Given the description of an element on the screen output the (x, y) to click on. 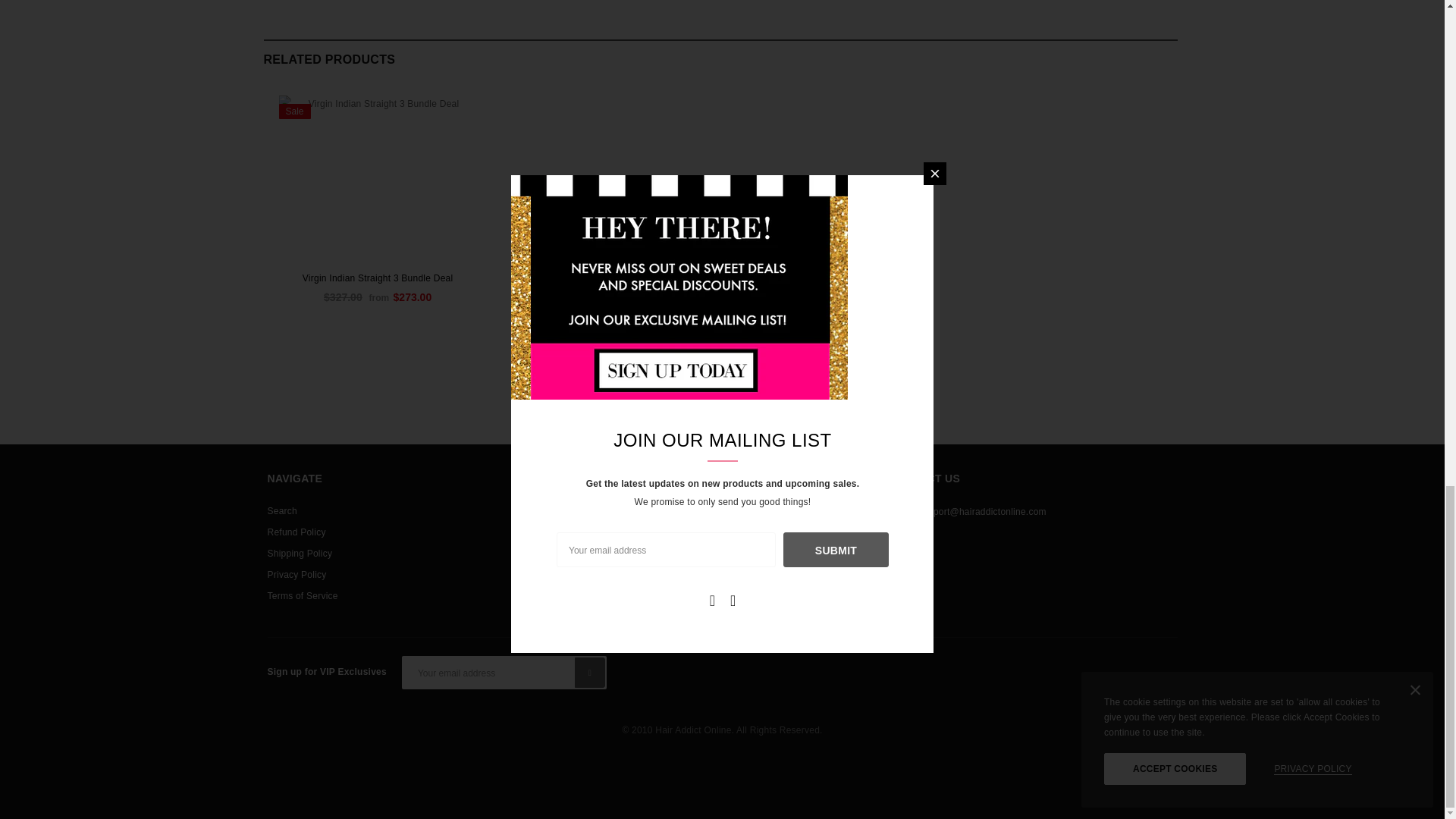
Search (281, 510)
